Given the description of an element on the screen output the (x, y) to click on. 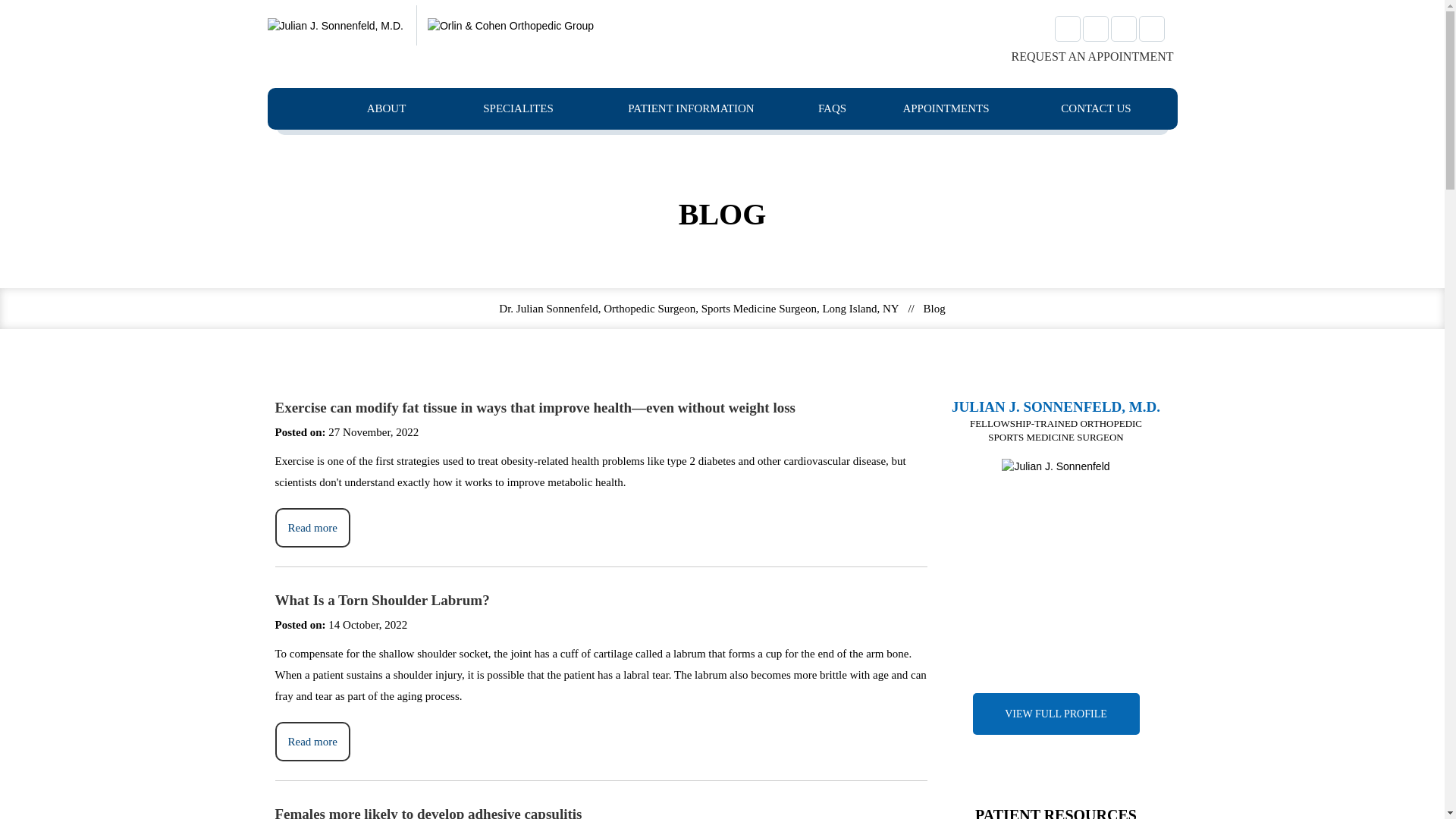
ABOUT (386, 108)
HOME (299, 108)
PATIENT INFORMATION (691, 108)
SPECIALITES (518, 108)
Read more about What Is a Torn Shoulder Labrum? (312, 741)
REQUEST AN APPOINTMENT (1082, 56)
